Given the description of an element on the screen output the (x, y) to click on. 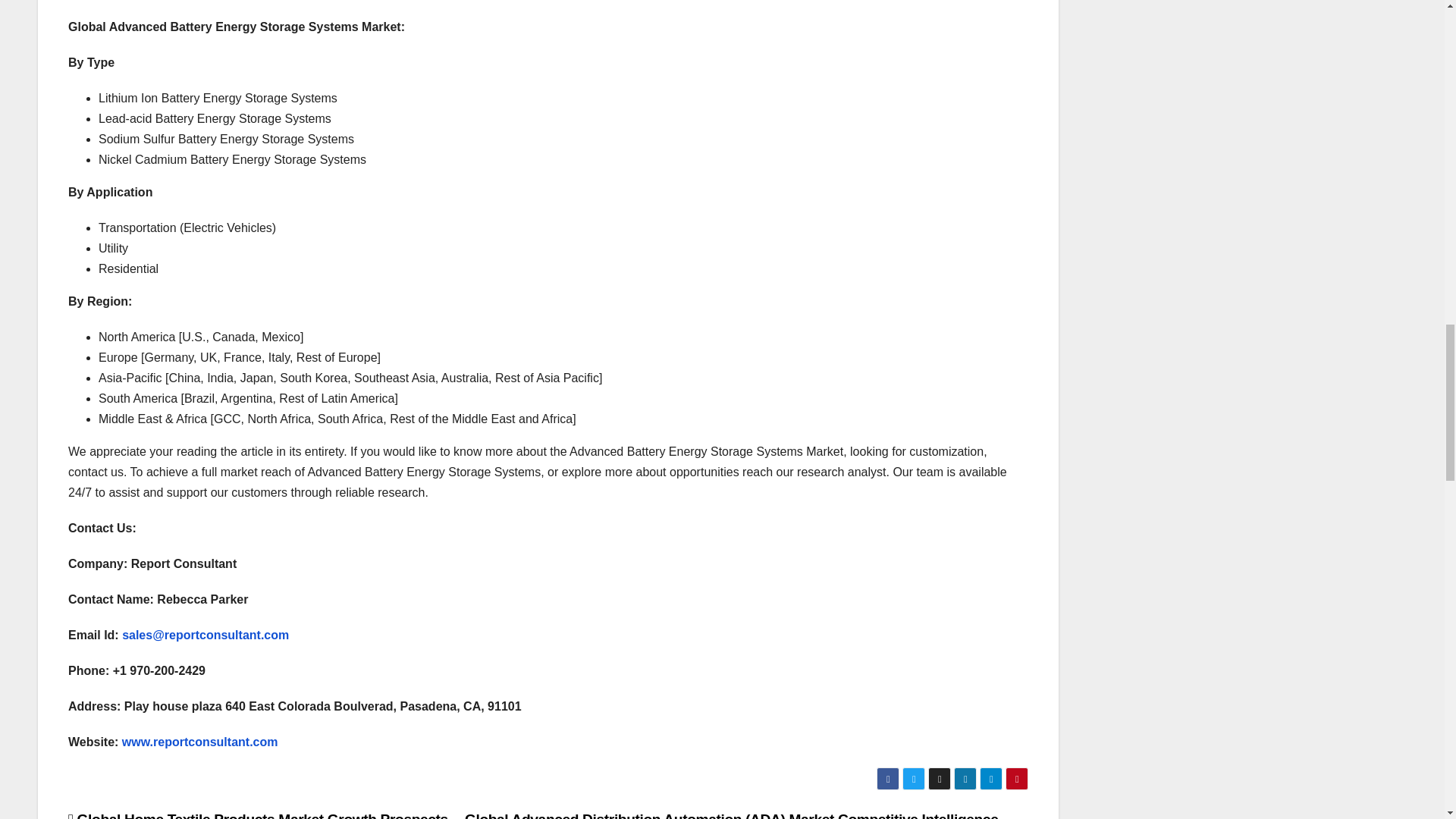
www.reportconsultant.com (200, 741)
